Given the description of an element on the screen output the (x, y) to click on. 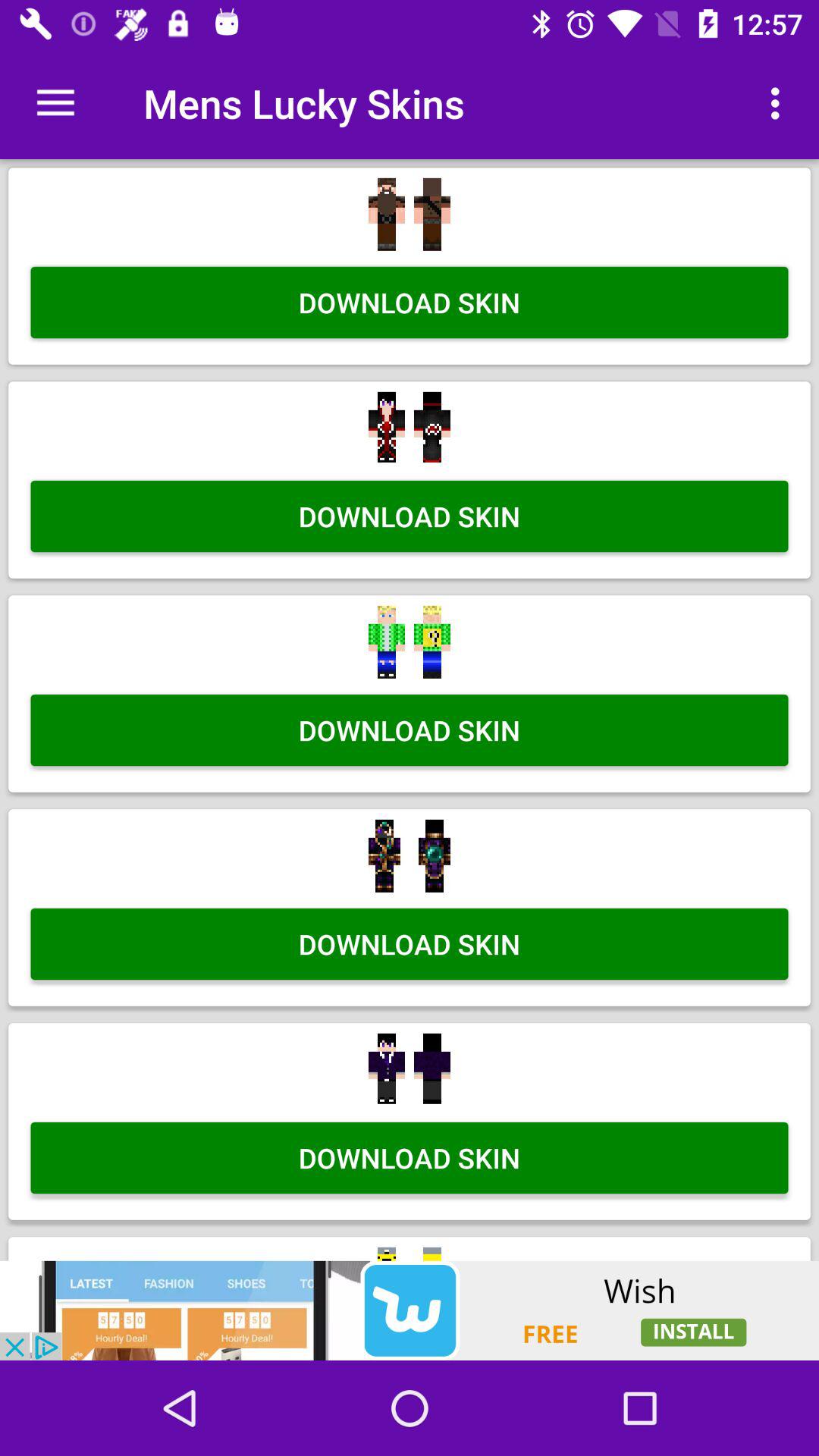
visit advertisement (409, 1310)
